Given the description of an element on the screen output the (x, y) to click on. 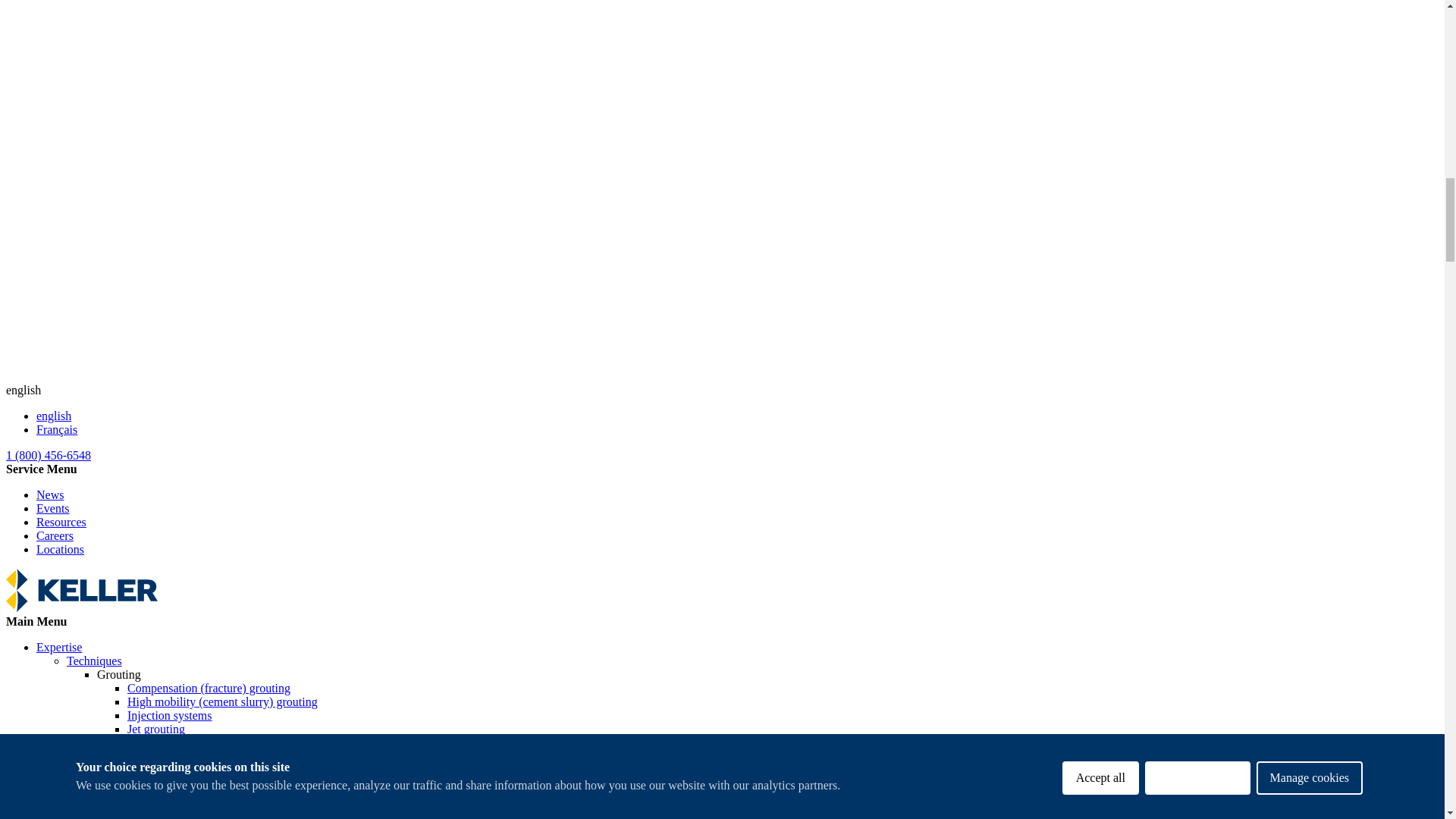
Jet grouting (156, 728)
Injection systems (170, 715)
Resources (60, 521)
News (50, 494)
Grouting (119, 674)
Slab jacking (157, 783)
Link to Events (52, 508)
Careers (55, 535)
Locations (60, 549)
Polyurethane grouting (181, 769)
Link to News (50, 494)
Link to Resources (60, 521)
Expertise (58, 646)
Slab jacking (157, 783)
